Given the description of an element on the screen output the (x, y) to click on. 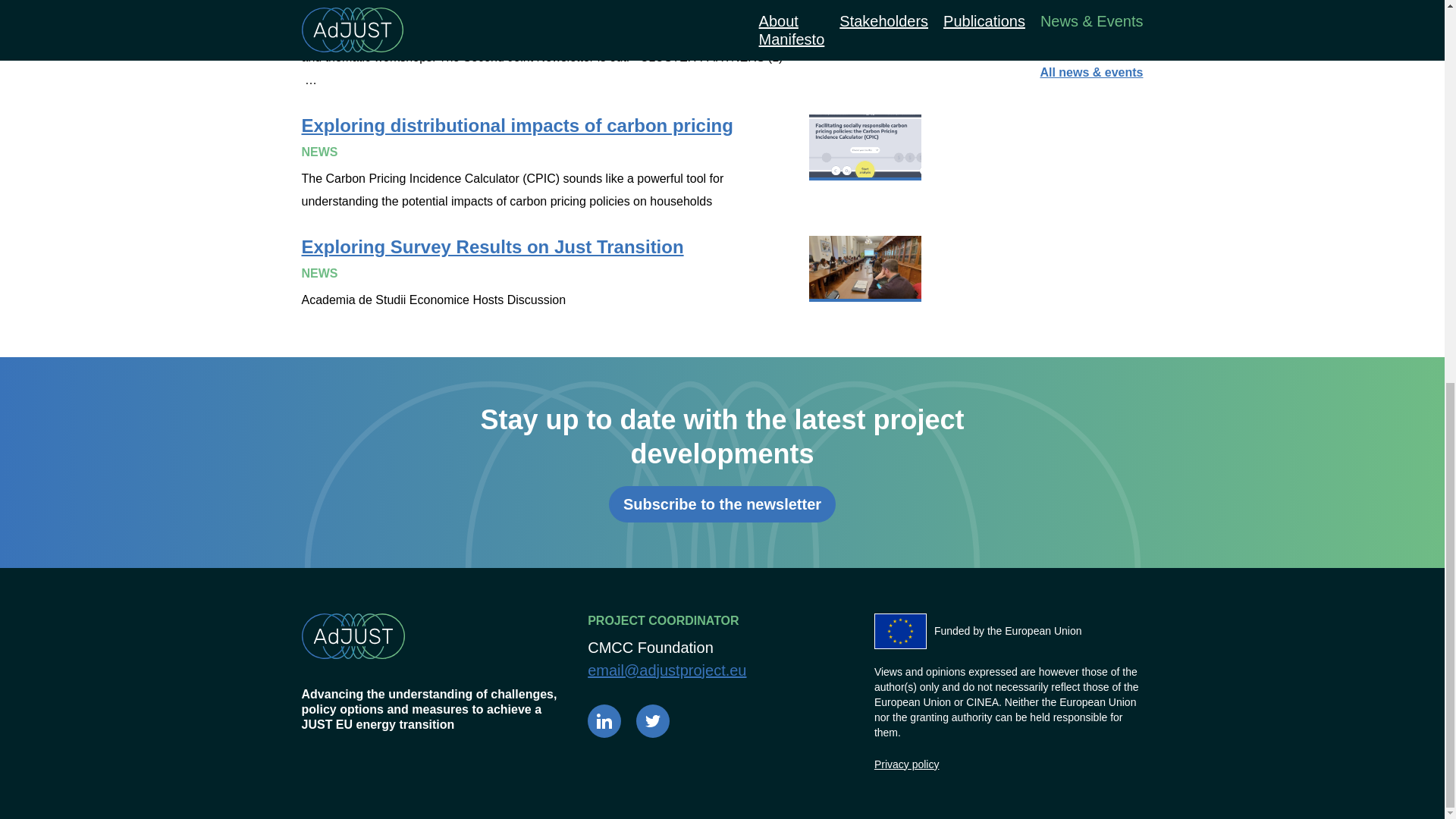
Exploring Survey Results on Just Transition (611, 273)
Exploring distributional impacts of carbon pricing (611, 163)
Privacy policy (907, 764)
Webinars (1115, 49)
Linkedin (604, 720)
Twitter (652, 720)
Newsletters (1108, 26)
News (1127, 5)
Subscribe to the newsletter (721, 504)
